Given the description of an element on the screen output the (x, y) to click on. 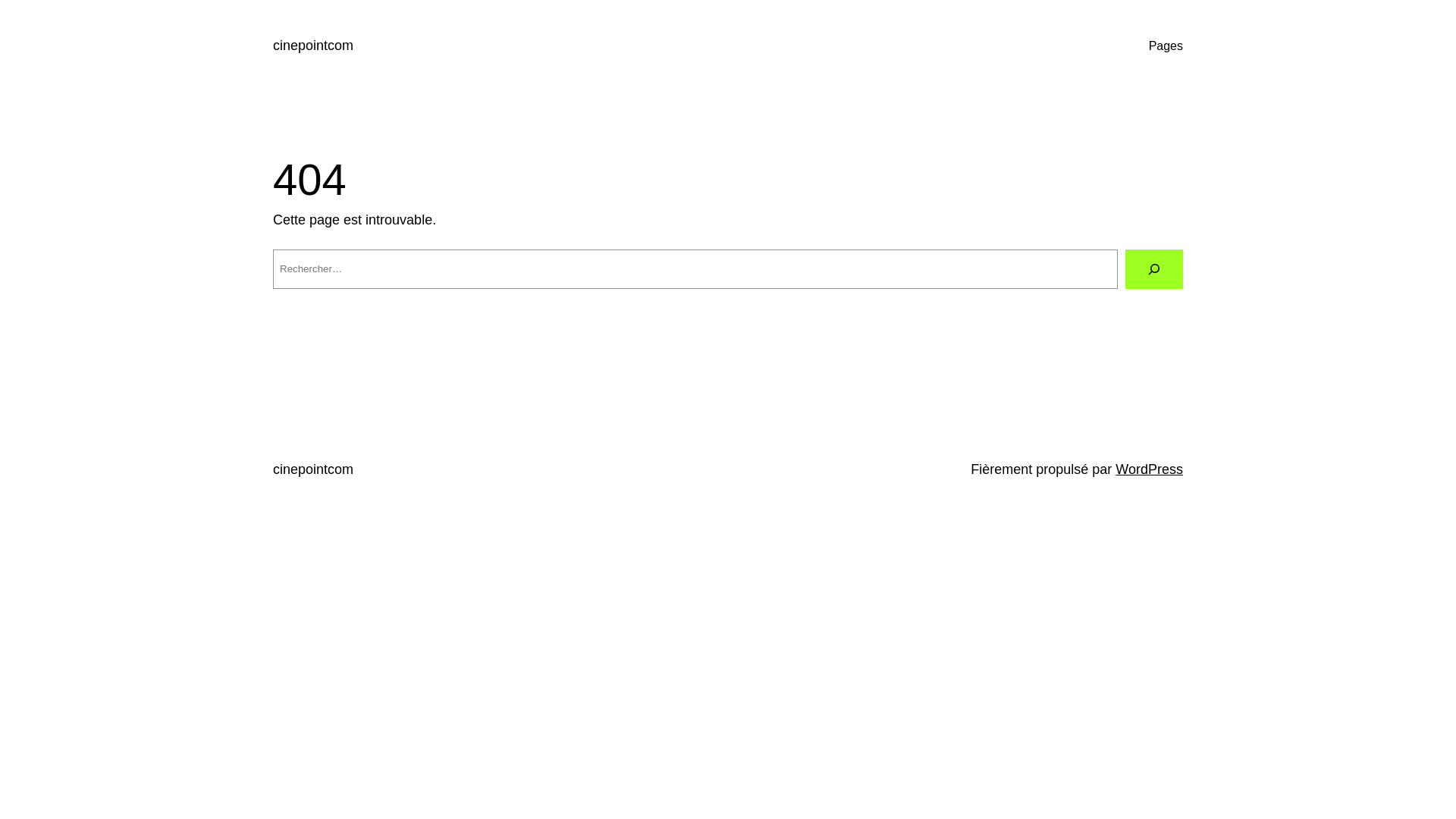
cinepointcom Element type: text (313, 468)
cinepointcom Element type: text (313, 45)
Pages Element type: text (1165, 46)
WordPress Element type: text (1149, 468)
